Given the description of an element on the screen output the (x, y) to click on. 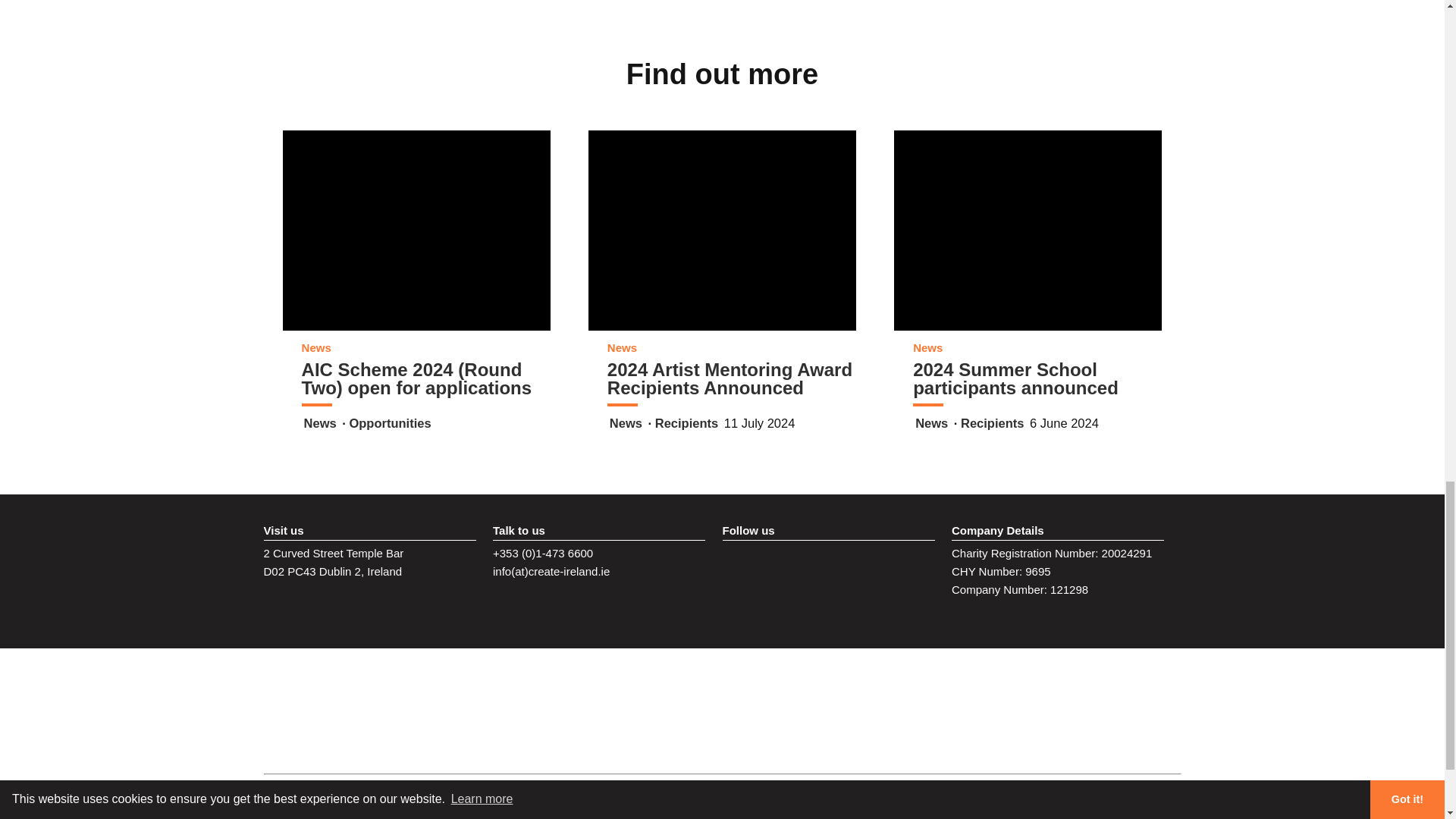
2024 Artist Mentoring Award Recipients Announced (722, 268)
X Twitter Create Collaborative Arts (888, 565)
SoundCloud  Create Collaborative Arts (827, 565)
Facebook  Create Collaborative Arts (858, 565)
RSS (919, 565)
Vimeo  Create Collaborative Arts (797, 565)
2024 Summer School participants announced (1027, 268)
LinkedIn Create Collaborative Arts (767, 565)
Instagram Create Collaborative Arts (737, 565)
